Given the description of an element on the screen output the (x, y) to click on. 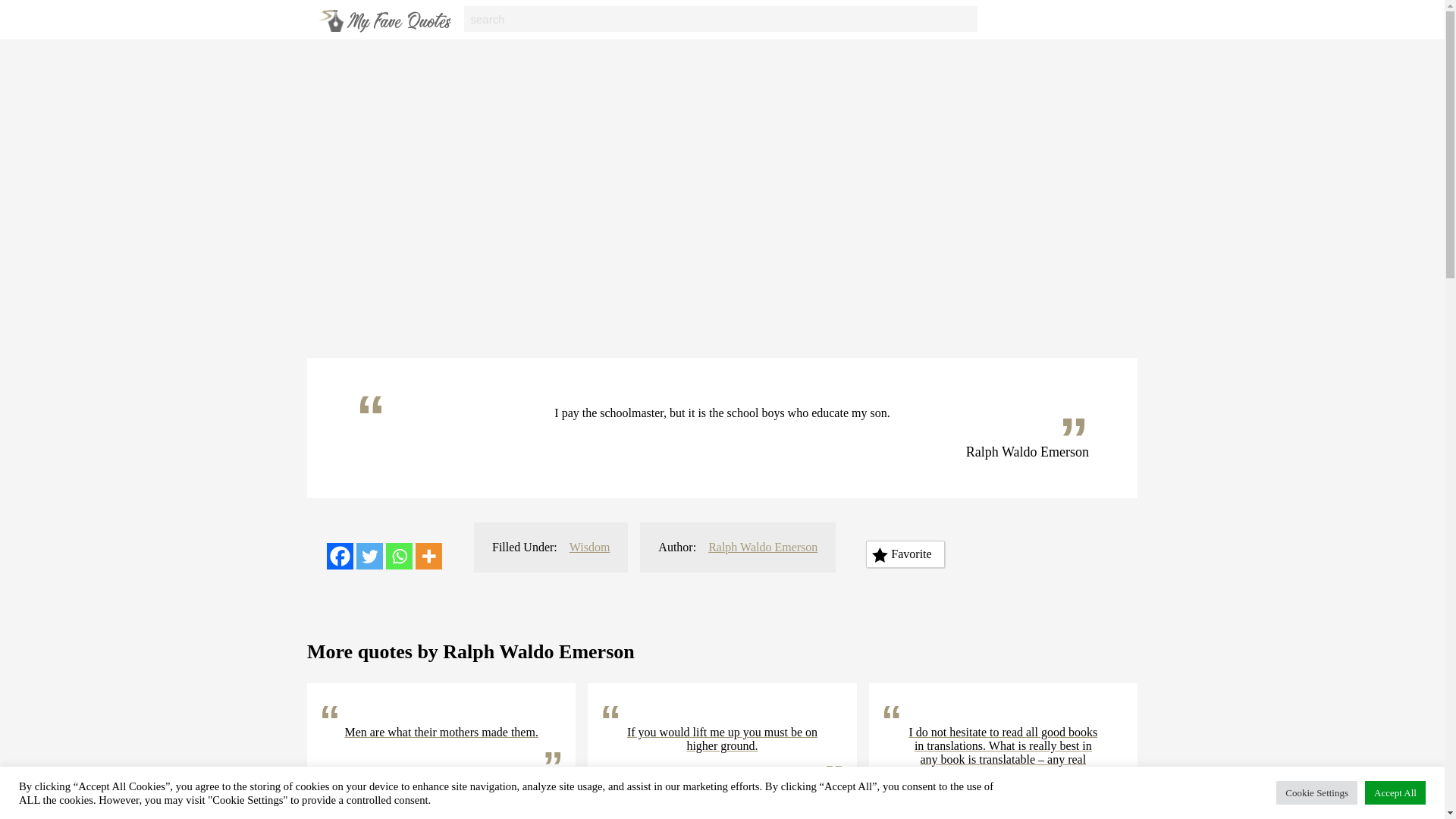
Facebook (339, 555)
Ralph Waldo Emerson (763, 799)
Twitter (369, 555)
More (428, 555)
If you would lift me up you must be on higher ground. (721, 738)
Wisdom (589, 546)
Ralph Waldo Emerson (482, 785)
Men are what their mothers made them. (440, 732)
Whatsapp (398, 555)
Ralph Waldo Emerson (761, 546)
